Given the description of an element on the screen output the (x, y) to click on. 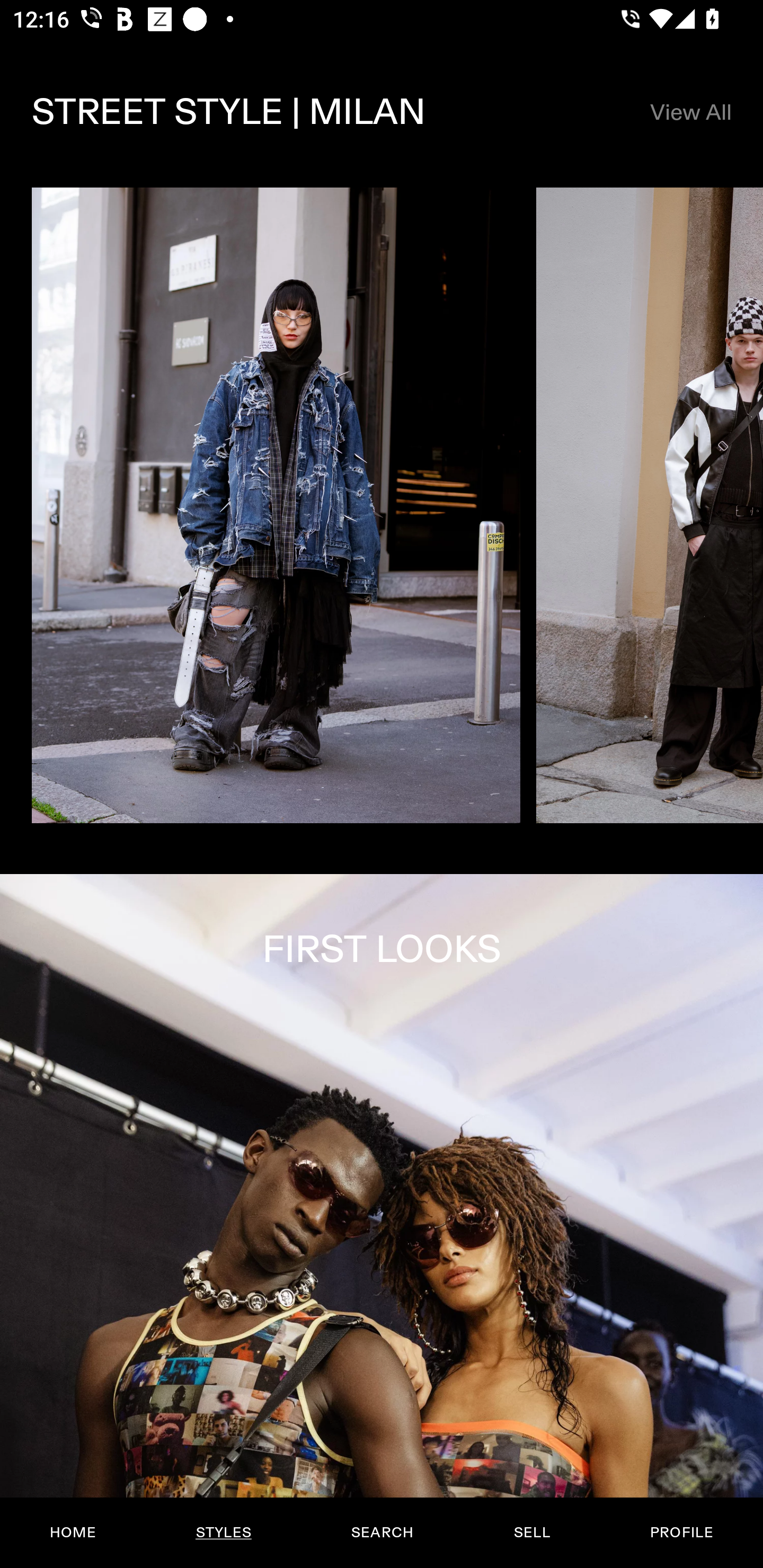
View All (690, 112)
FIRST LOOKS DIESEL FALL '24 (381, 1220)
HOME (72, 1532)
STYLES (222, 1532)
SEARCH (381, 1532)
SELL (531, 1532)
PROFILE (681, 1532)
